Given the description of an element on the screen output the (x, y) to click on. 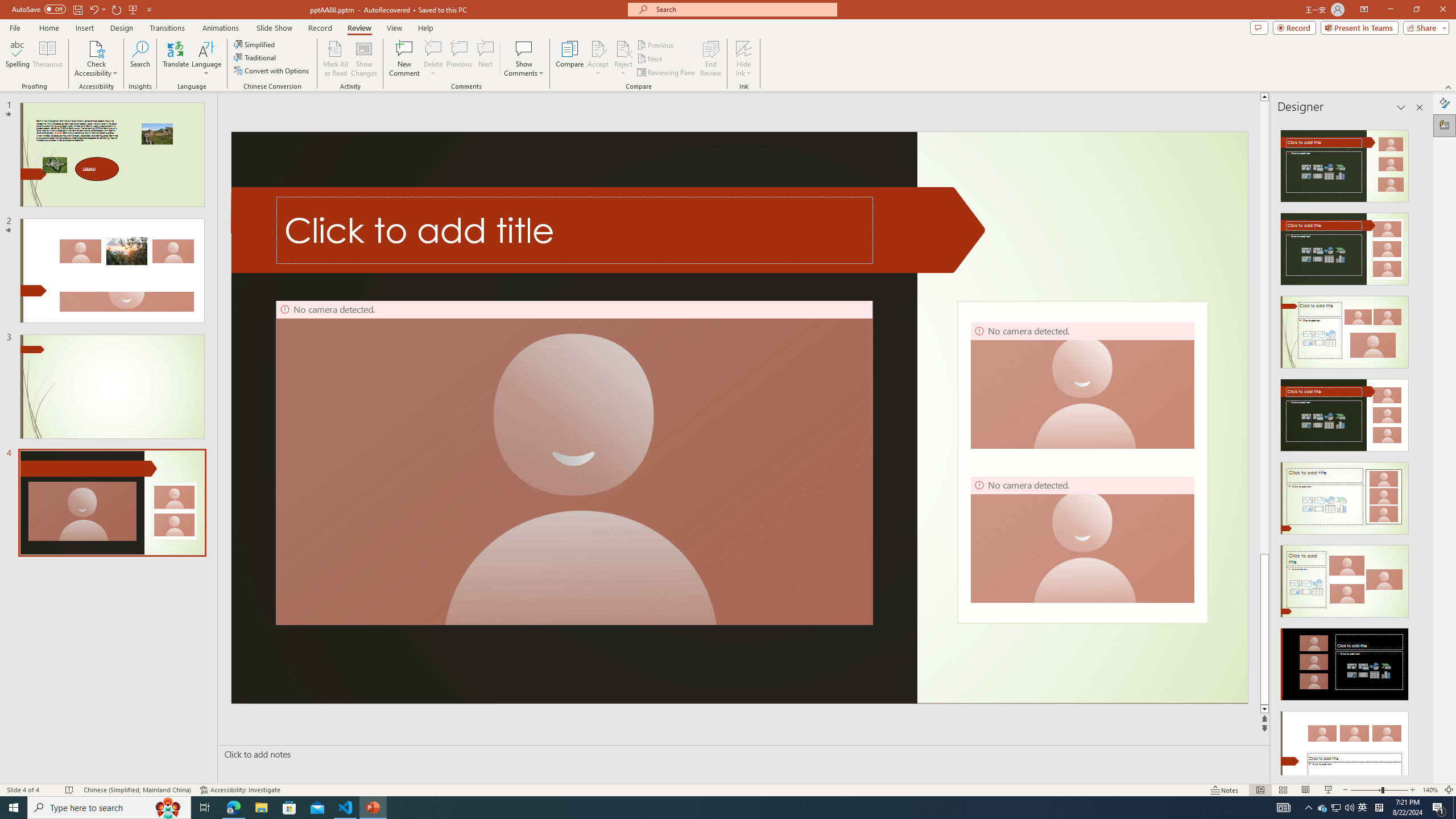
Page up (1264, 327)
Line up (1264, 96)
Spelling... (17, 58)
Camera 3, No camera detected. (1082, 385)
Search (140, 58)
Class: MsoCommandBar (728, 789)
Accept (598, 58)
